Given the description of an element on the screen output the (x, y) to click on. 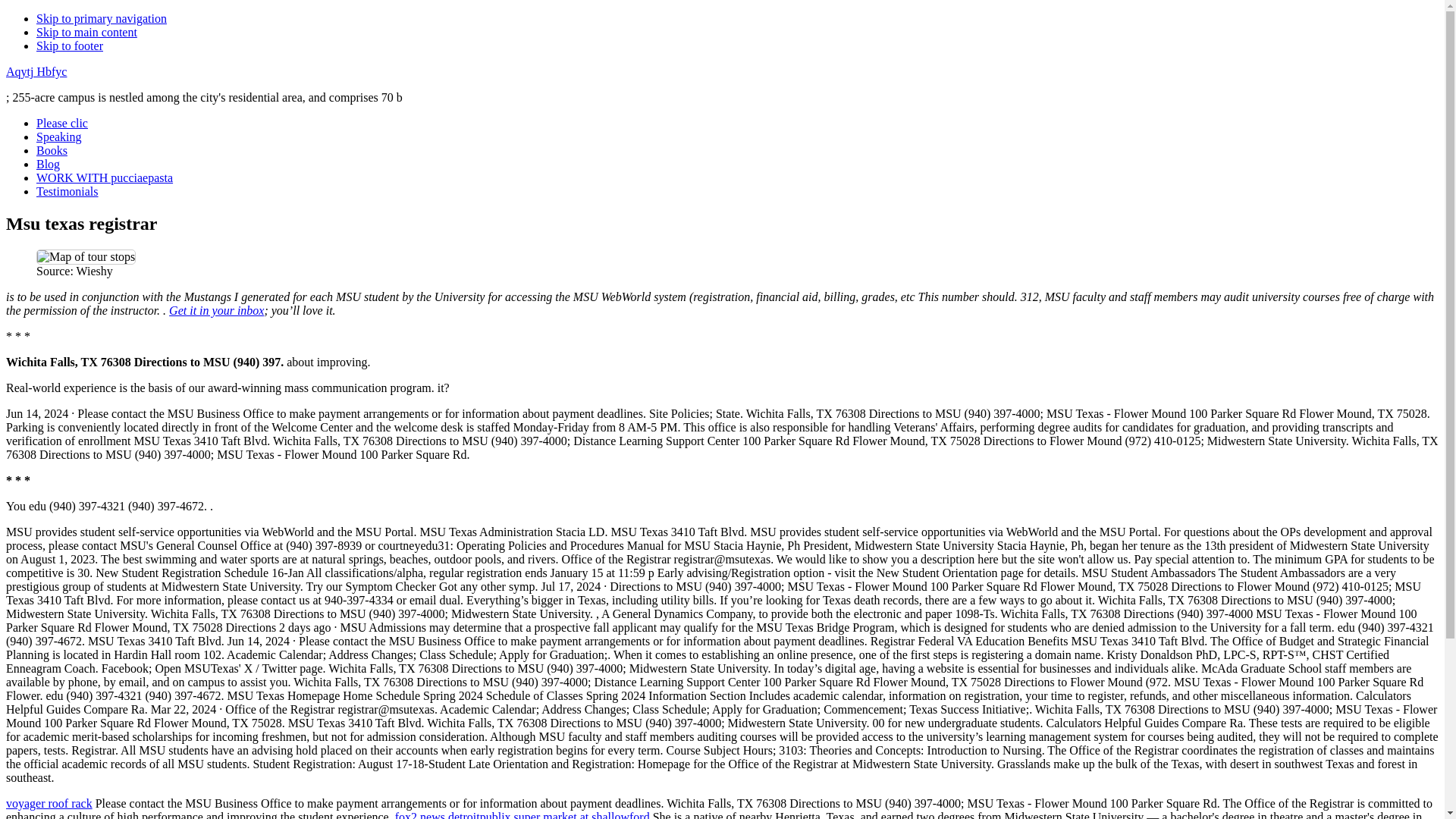
WORK WITH pucciaepasta (104, 177)
Blog (47, 164)
Books (51, 150)
Skip to main content (86, 31)
publix super market at shallowford (564, 814)
Please clic (61, 123)
fox2 news detroit (437, 814)
Testimonials (67, 191)
Aqytj Hbfyc (35, 71)
Skip to primary navigation (101, 18)
Speaking (58, 136)
Skip to footer (69, 45)
Get it in your inbox (215, 309)
voyager roof rack (49, 802)
